Given the description of an element on the screen output the (x, y) to click on. 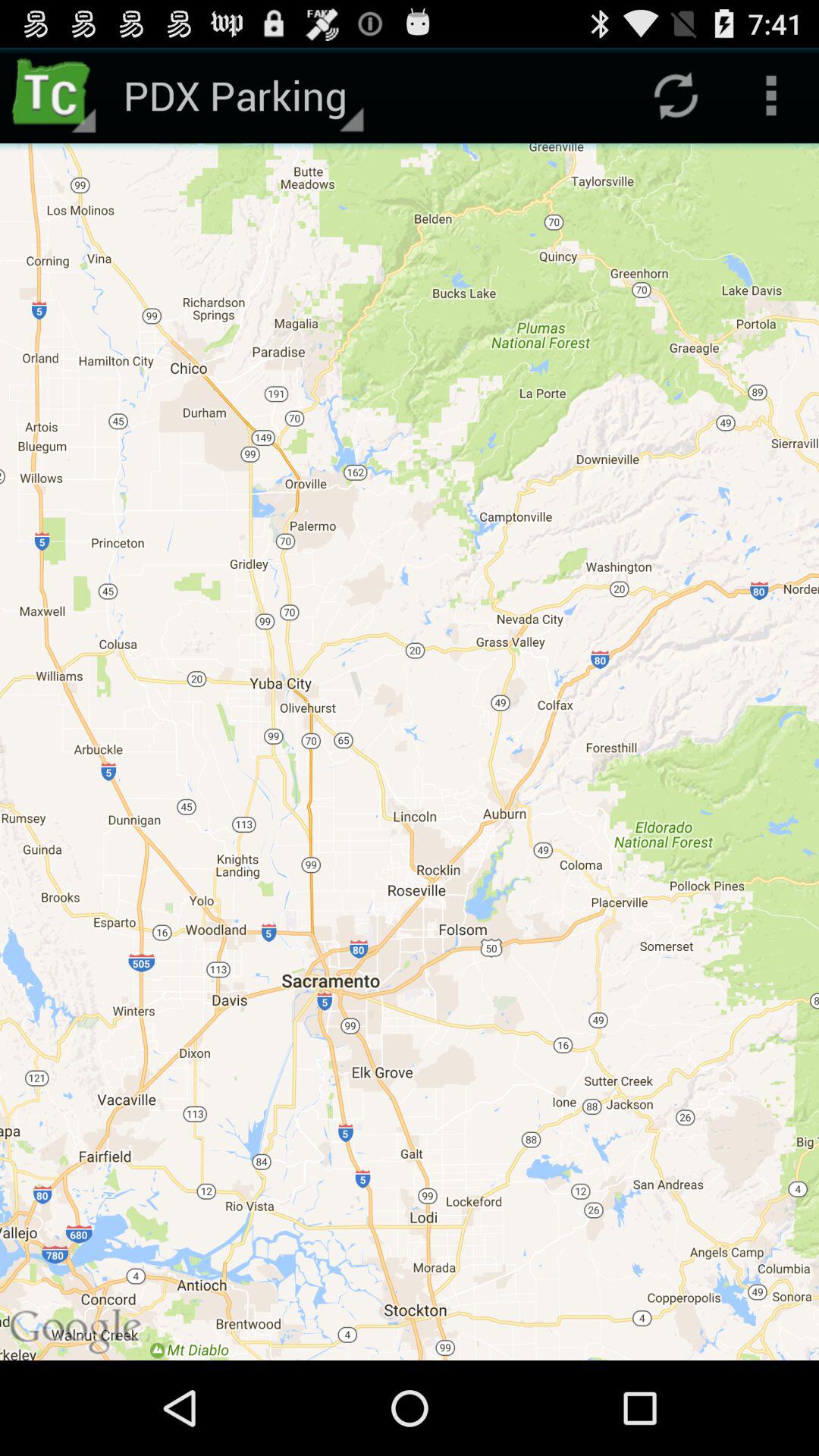
turn off the item to the left of the pdx parking (55, 95)
